Given the description of an element on the screen output the (x, y) to click on. 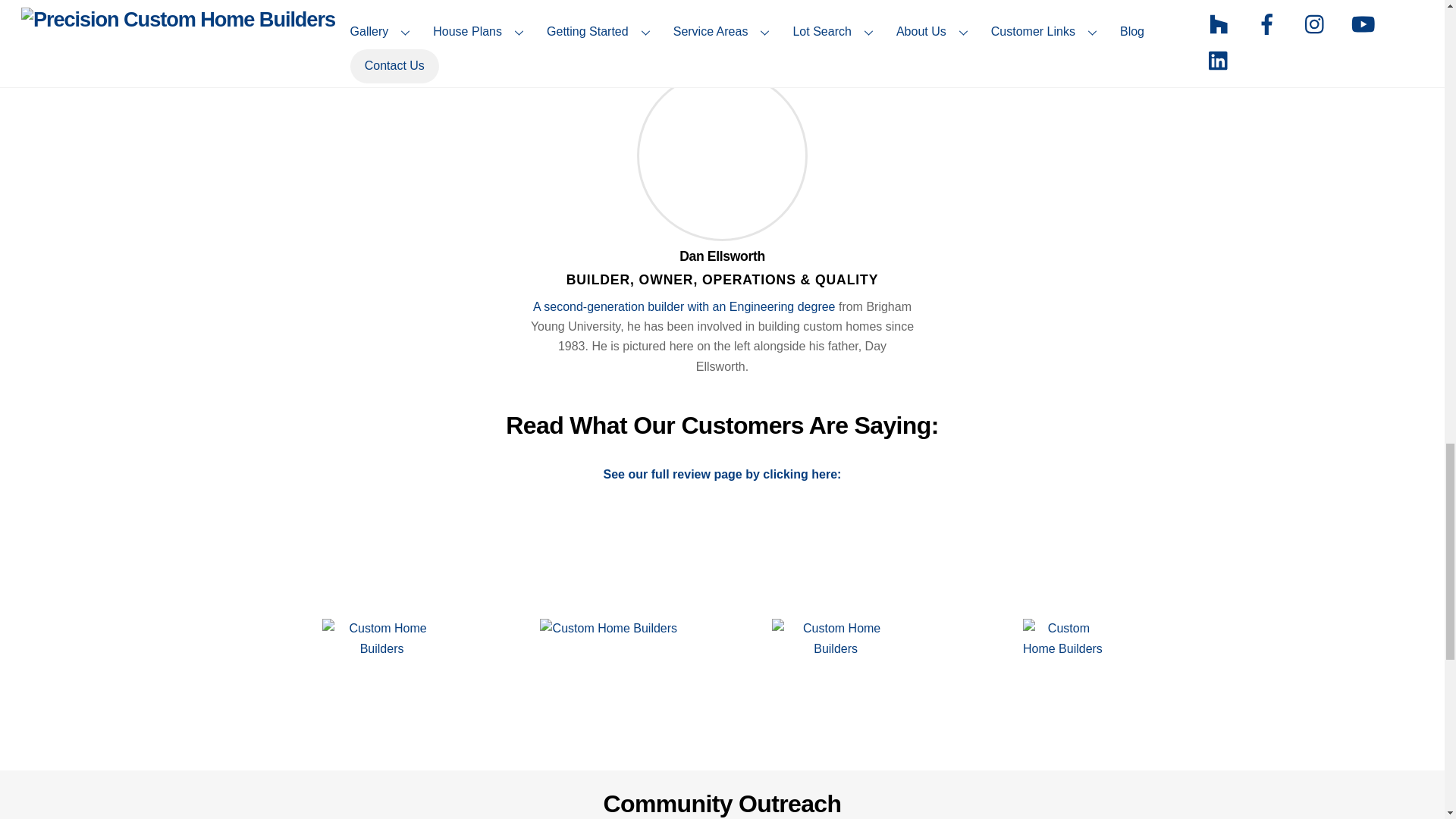
Custom Home Builders (381, 671)
Custom Home Builders (609, 660)
Custom Home Builders (1062, 660)
Custom Home Builders (835, 660)
